Given the description of an element on the screen output the (x, y) to click on. 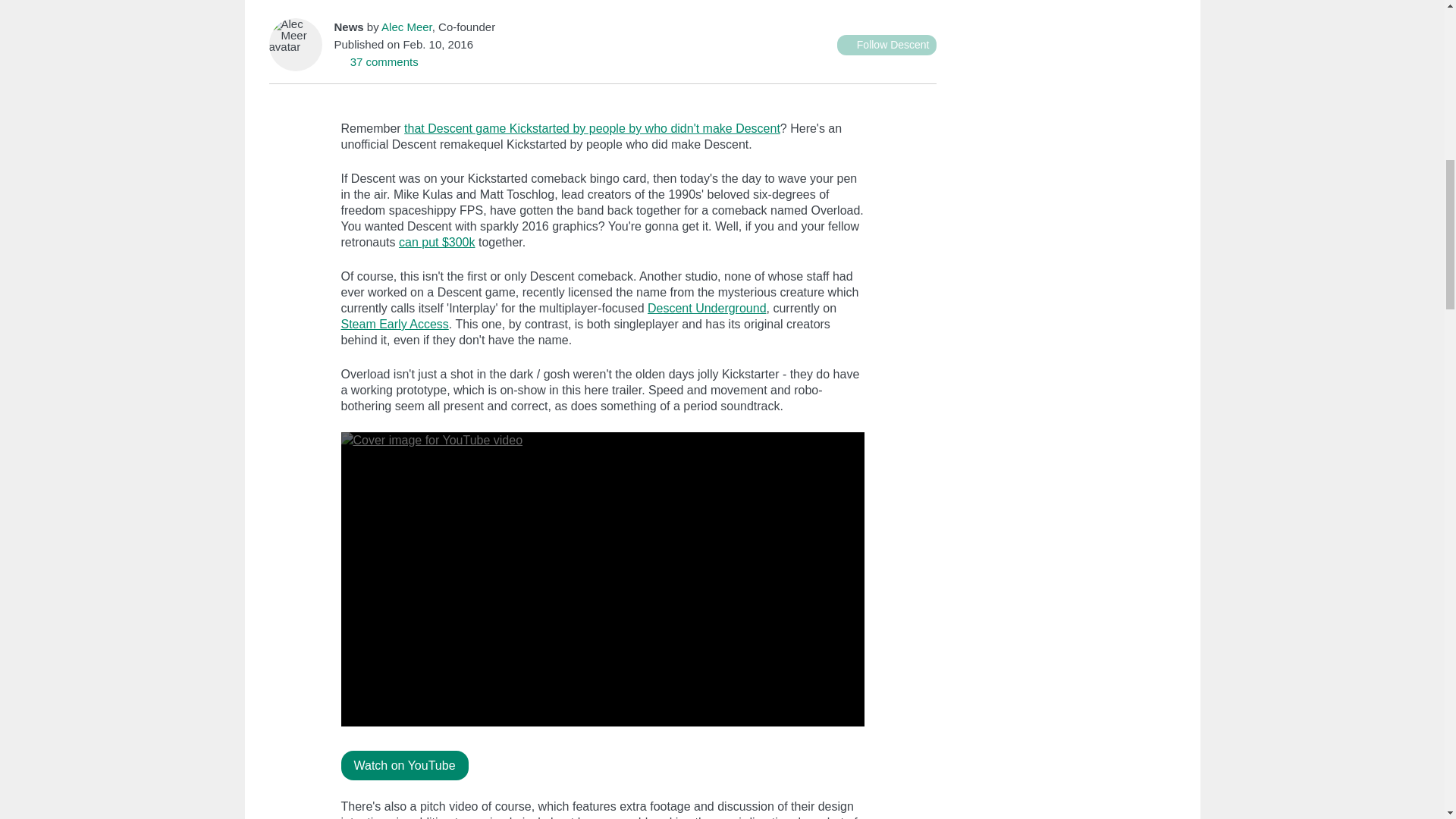
Descent Underground (707, 308)
37 comments (375, 61)
Watch on YouTube (404, 765)
Follow Descent (886, 45)
Steam Early Access (394, 323)
Alec Meer (406, 26)
